Given the description of an element on the screen output the (x, y) to click on. 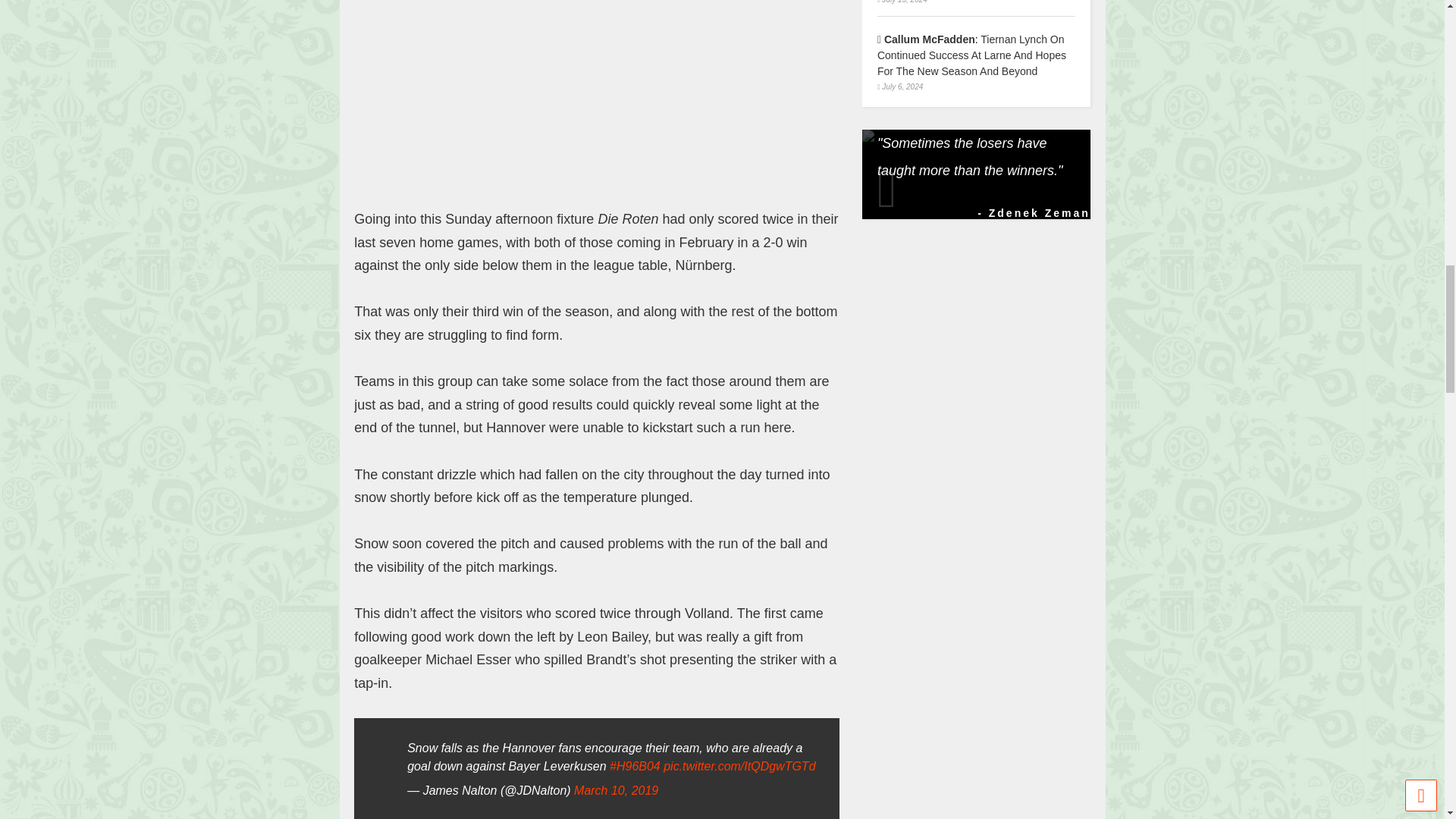
March 10, 2019 (615, 789)
